Given the description of an element on the screen output the (x, y) to click on. 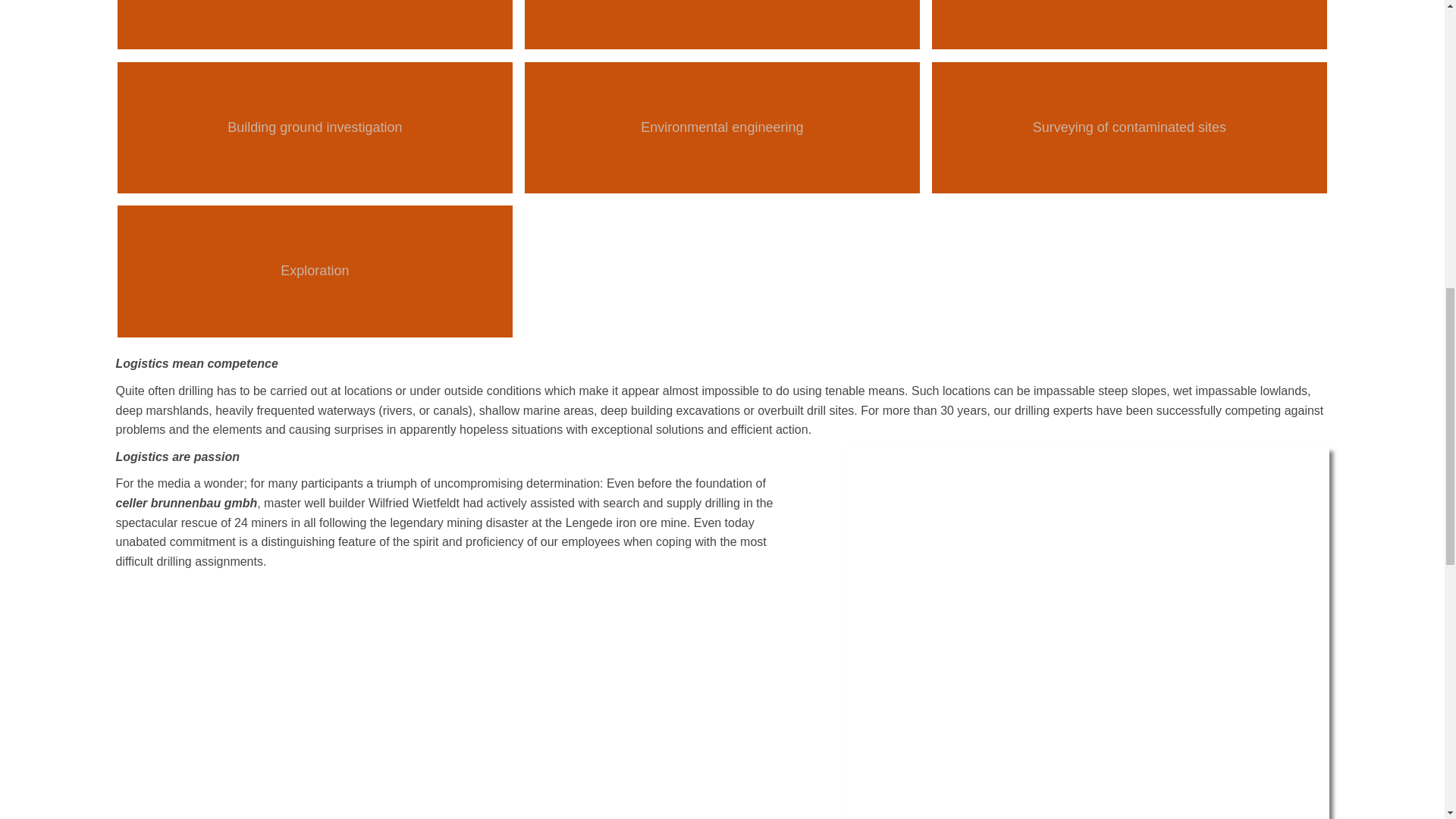
Environmental engineering (722, 128)
Surveying of contaminated sites (1128, 128)
Exploration (314, 271)
Geothermal energy (722, 24)
Seismic drilling (314, 24)
Building ground investigation (314, 128)
Geological core drilling (1128, 24)
